Given the description of an element on the screen output the (x, y) to click on. 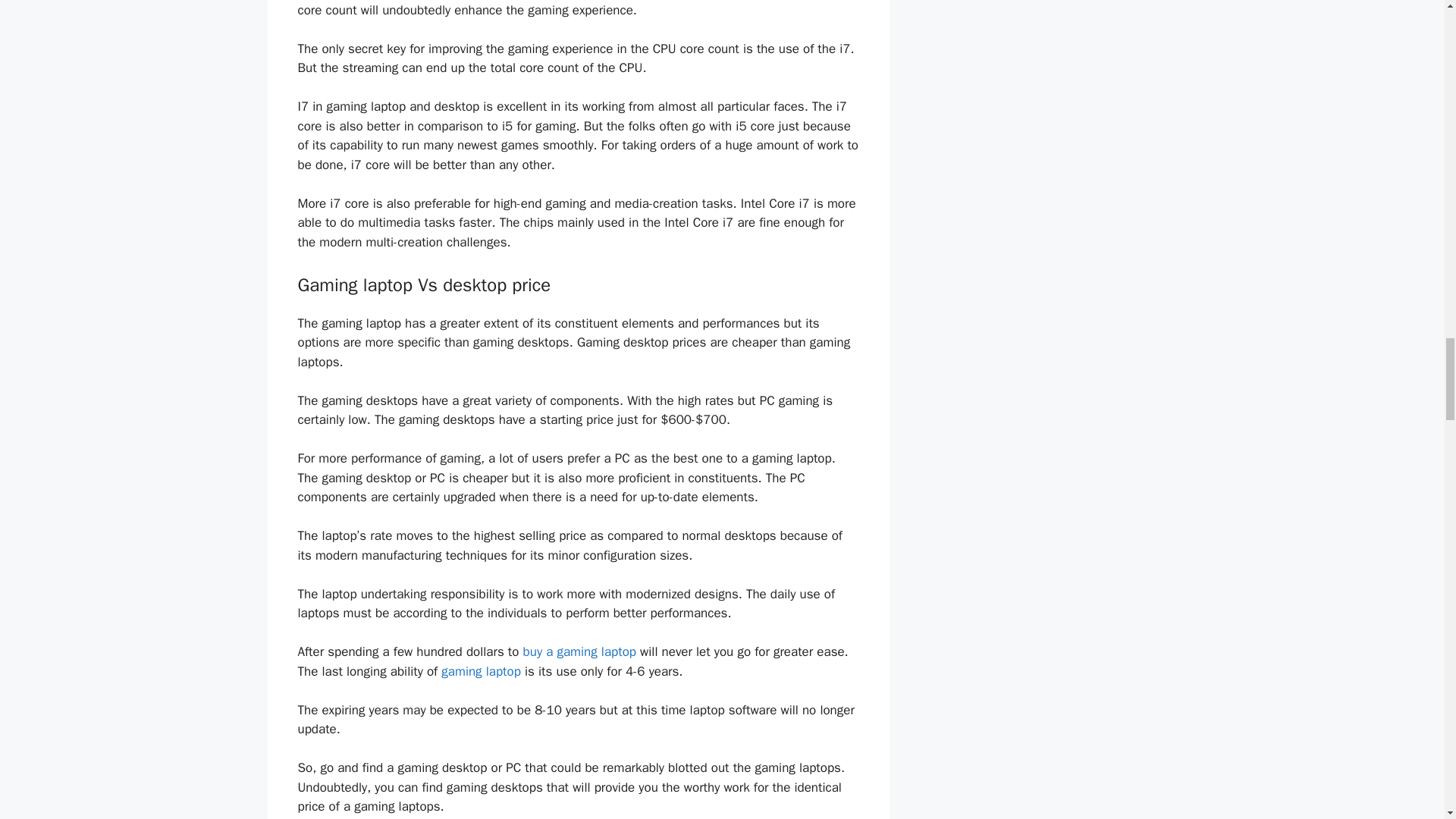
buy a gaming laptop (581, 651)
gaming laptop (481, 671)
